Given the description of an element on the screen output the (x, y) to click on. 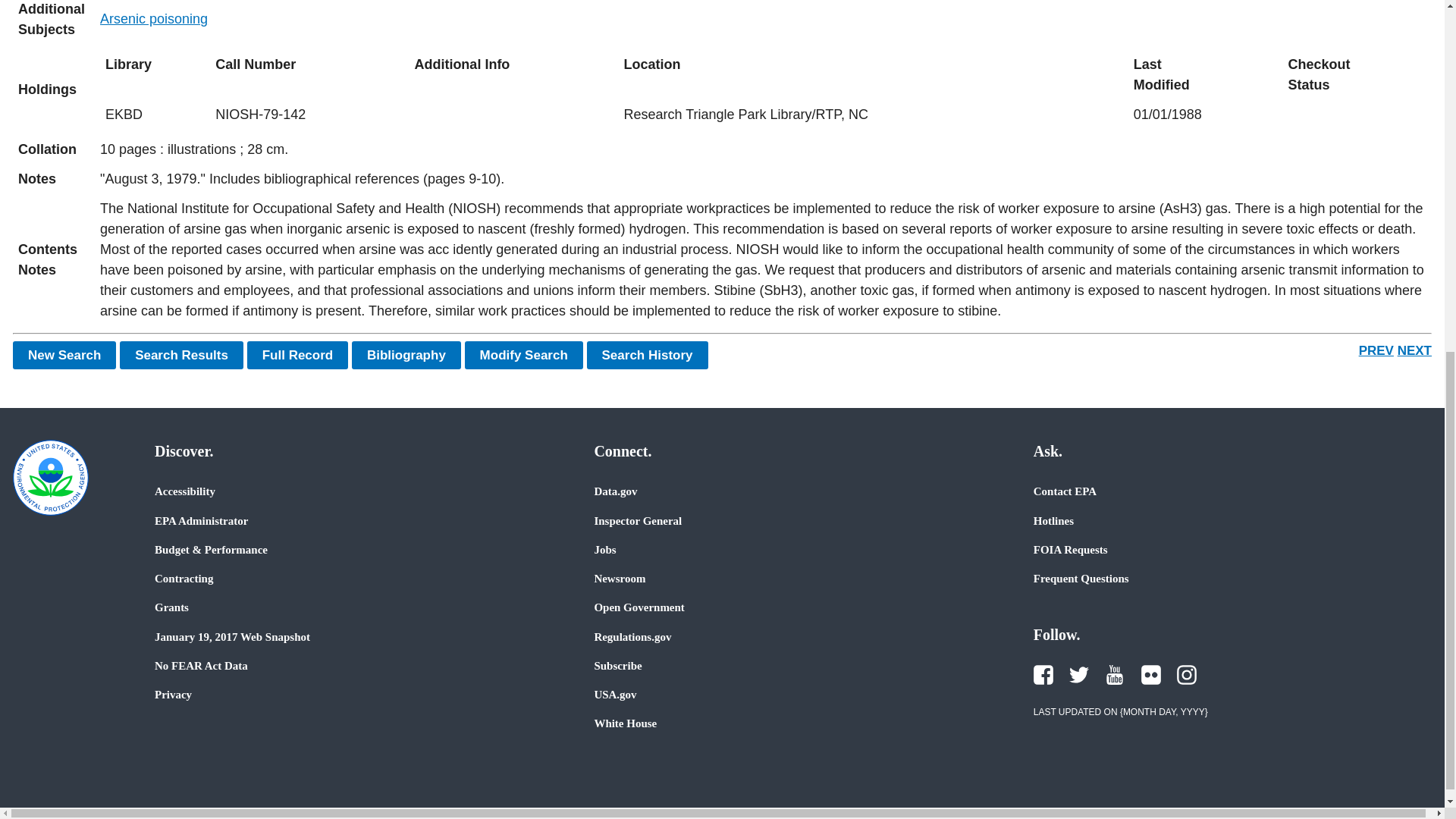
Inspector General (637, 520)
Full Record (298, 355)
EPA Administrator (200, 520)
Bibliography (406, 355)
Data.gov (615, 490)
Jobs (604, 549)
Privacy (173, 694)
Search Results (181, 355)
NEXT (1414, 350)
